Given the description of an element on the screen output the (x, y) to click on. 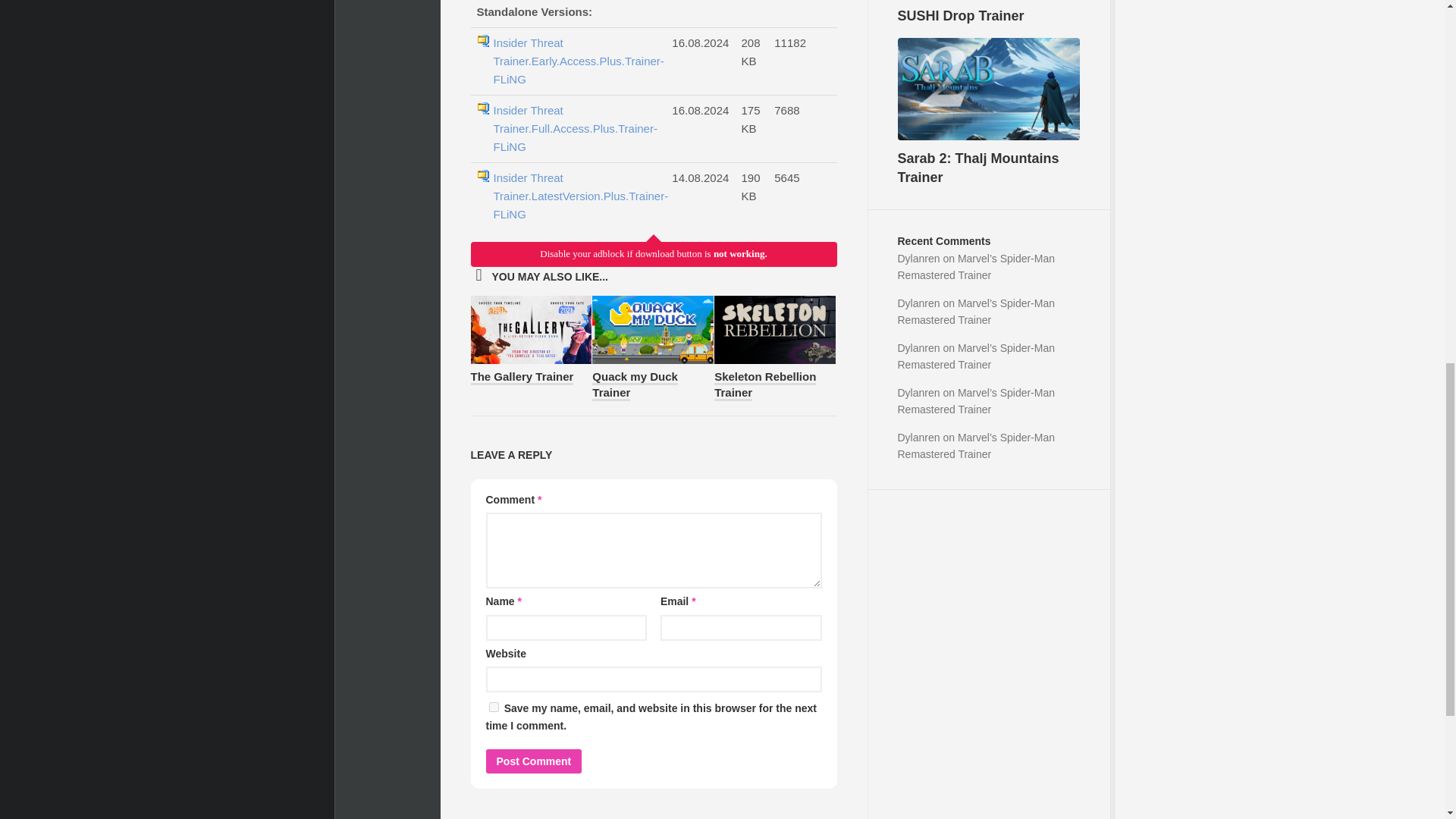
The Gallery Trainer (521, 377)
Insider Threat Trainer.Full.Access.Plus.12.Trainer-FLiNG (575, 195)
Post Comment (532, 761)
Post Comment (532, 761)
Skeleton Rebellion Trainer (764, 385)
Insider Threat Trainer.Early.Access.Plus.Trainer-FLiNG (575, 61)
Insider Threat Trainer.LatestVersion.Plus.Trainer-FLiNG (575, 195)
Insider Threat Trainer.Full.Access.Plus.Trainer-FLiNG (575, 128)
Insider Threat Trainer.Early.Access.Plus.12.Trainer-FLiNG (575, 61)
Quack my Duck Trainer (635, 385)
